Given the description of an element on the screen output the (x, y) to click on. 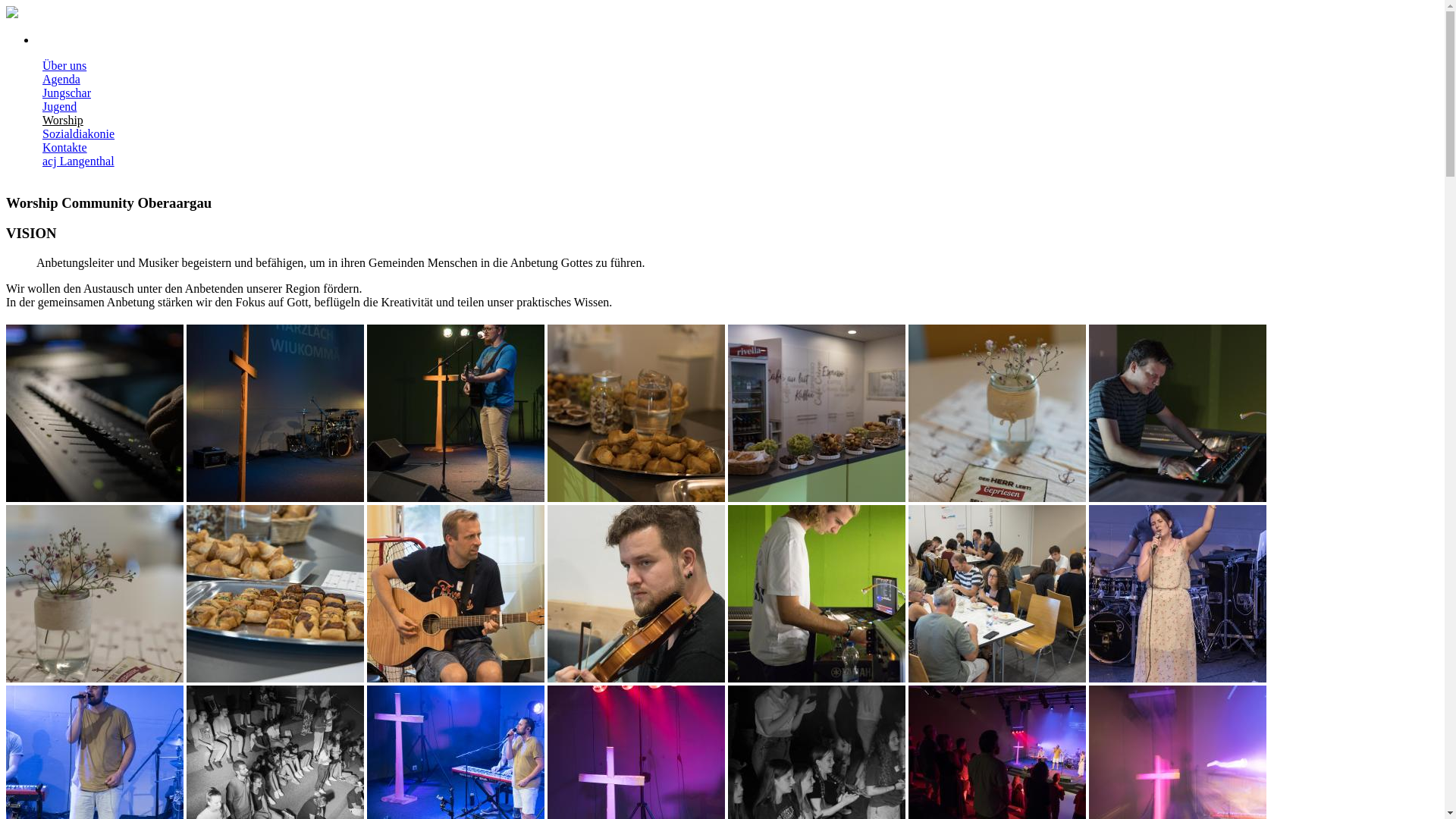
Sozialdiakonie Element type: text (78, 133)
Worship Element type: text (62, 119)
Startseite Element type: hover (12, 13)
Direkt zum Inhalt Element type: text (49, 6)
Agenda Element type: text (61, 78)
Jungschar Element type: text (66, 92)
acj Langenthal Element type: text (78, 160)
Jugend Element type: text (59, 106)
Kontakte Element type: text (64, 147)
